Given the description of an element on the screen output the (x, y) to click on. 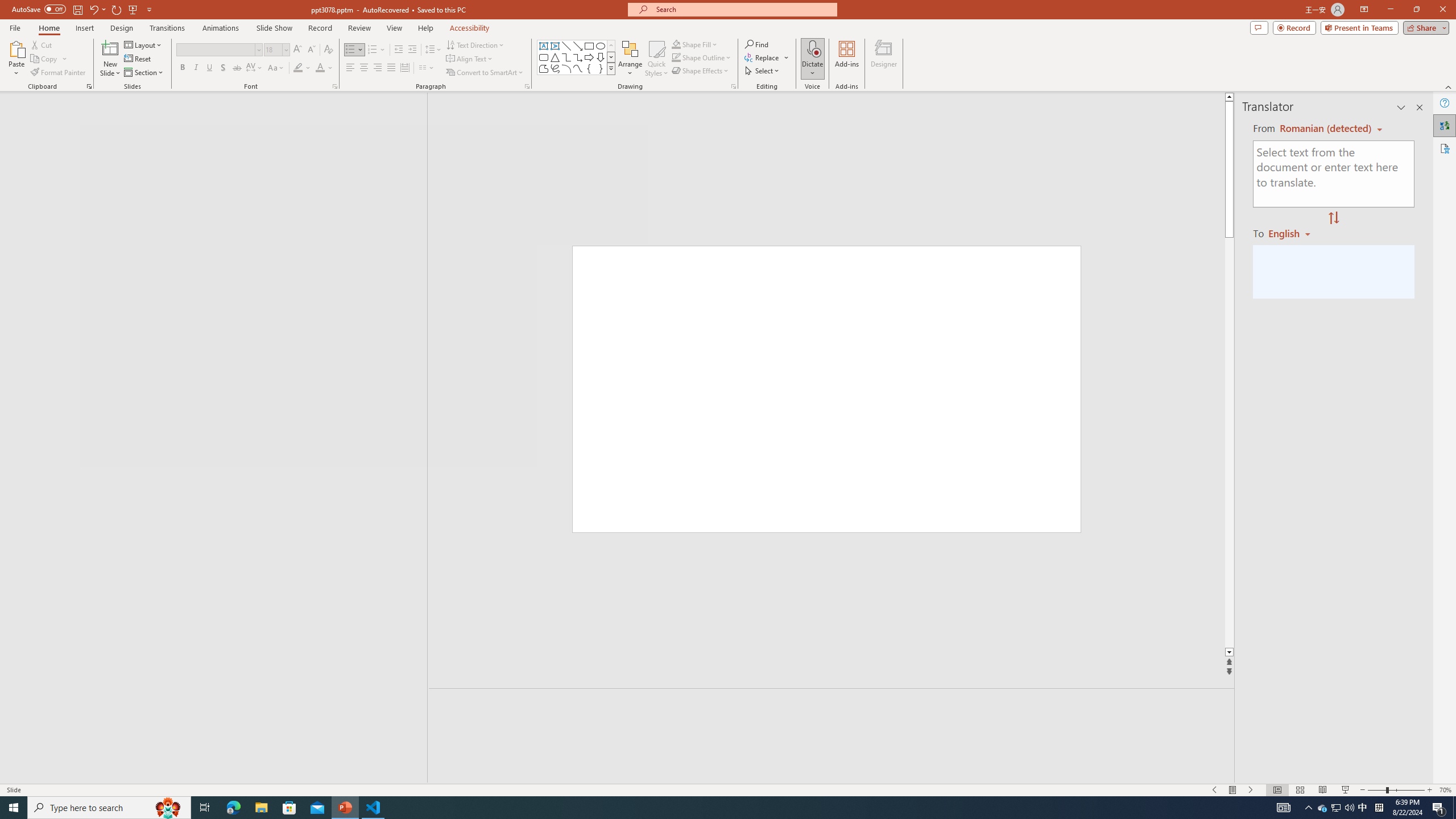
Restore Down (1416, 9)
Shape Effects (700, 69)
Replace... (762, 56)
Bold (182, 67)
Task Pane Options (1400, 107)
Arrange (630, 58)
Cut (42, 44)
Paste (16, 48)
Font Size (273, 49)
Text Highlight Color Yellow (297, 67)
Minimize (1390, 9)
Oval (600, 45)
